Given the description of an element on the screen output the (x, y) to click on. 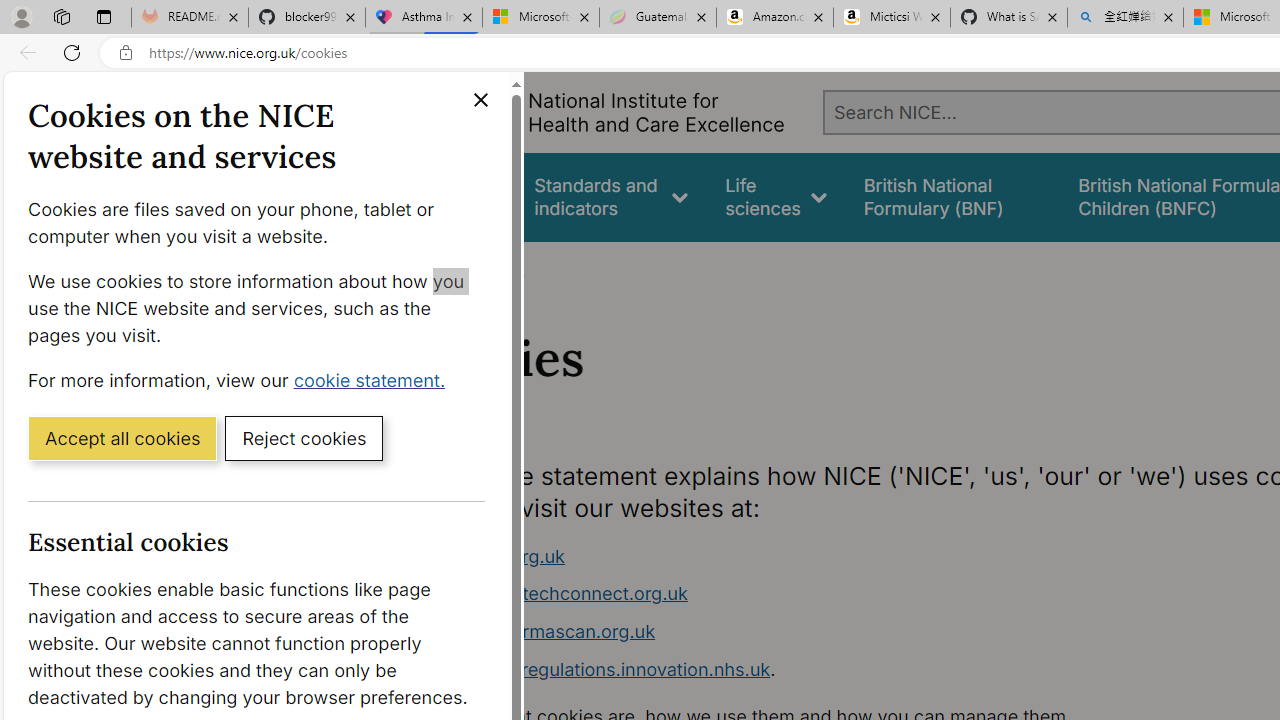
www.nice.org.uk (796, 556)
About (498, 268)
Asthma Inhalers: Names and Types (424, 17)
www.nice.org.uk (492, 556)
Guidance (458, 196)
